Given the description of an element on the screen output the (x, y) to click on. 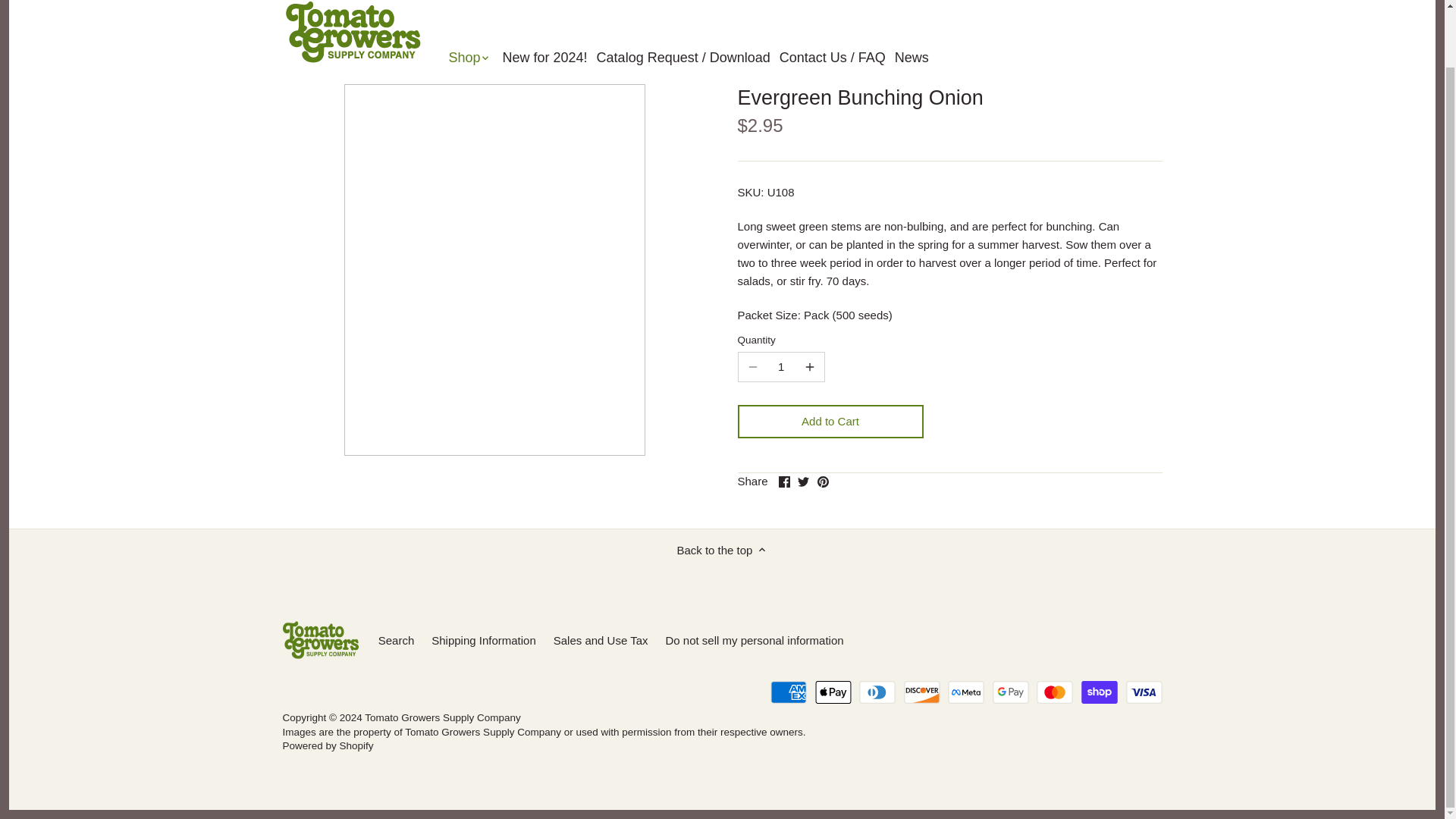
Visa (1143, 691)
Diners Club (877, 691)
Meta Pay (965, 691)
Facebook (784, 481)
Mastercard (1054, 691)
Twitter (803, 481)
Pinterest (822, 481)
Shop Pay (1099, 691)
Apple Pay (833, 691)
Google Pay (1010, 691)
